Given the description of an element on the screen output the (x, y) to click on. 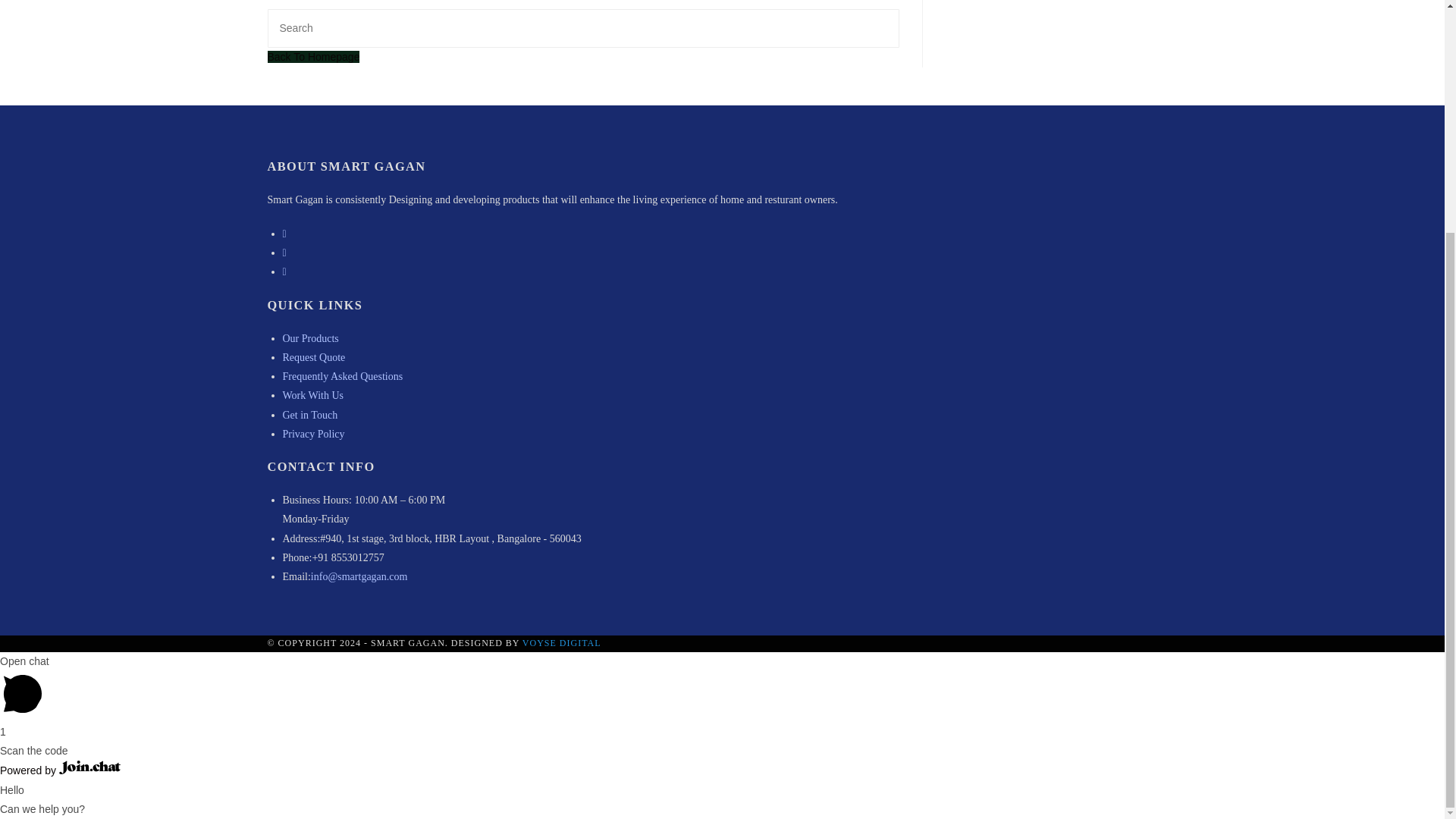
Joinchat (89, 766)
Back To Homepage (312, 56)
Our Products (309, 337)
